Given the description of an element on the screen output the (x, y) to click on. 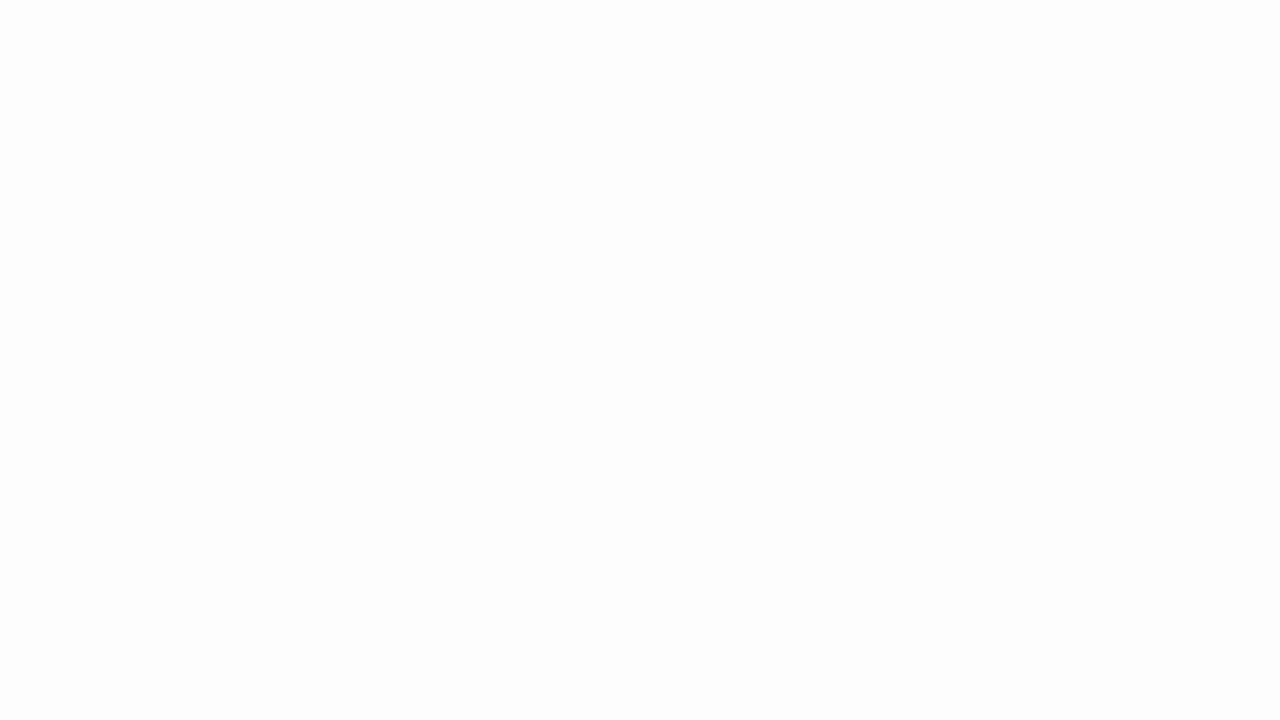
Conditional Formatting (924, 102)
Align Left (461, 119)
Font (250, 87)
Number Format (800, 87)
Show Phonetic Field (408, 119)
Middle Align (485, 87)
Explanatory Text (1180, 114)
Format Cell Alignment (714, 151)
Orientation (547, 87)
Wrap Text (624, 87)
